Given the description of an element on the screen output the (x, y) to click on. 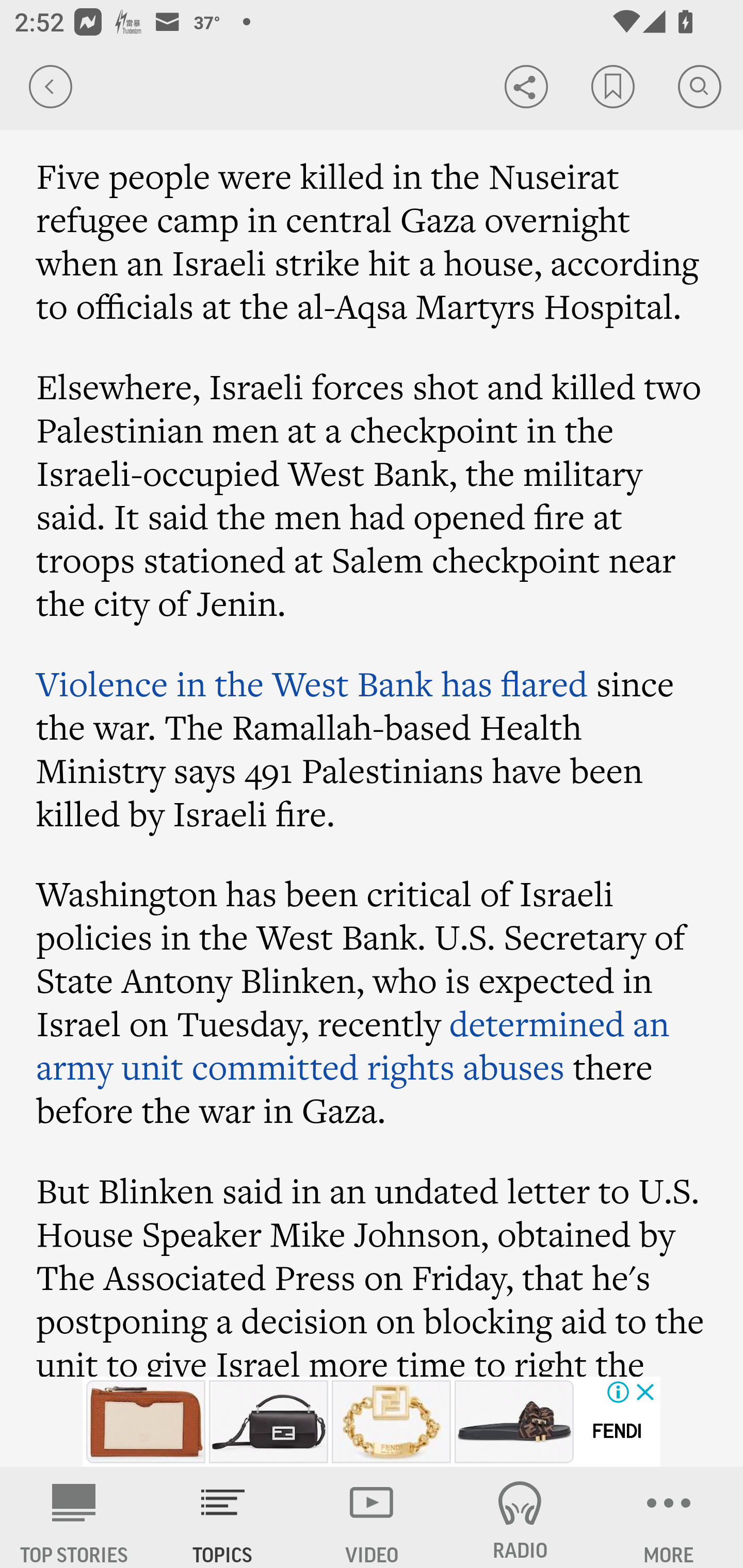
Violence in the West Bank has flared (312, 683)
determined an army unit committed rights abuses (352, 1044)
fendi-feel-brown-satin-slides-8x8142ae7sf0r7v (513, 1420)
AP News TOP STORIES (74, 1517)
TOPICS (222, 1517)
VIDEO (371, 1517)
RADIO (519, 1517)
MORE (668, 1517)
